Given the description of an element on the screen output the (x, y) to click on. 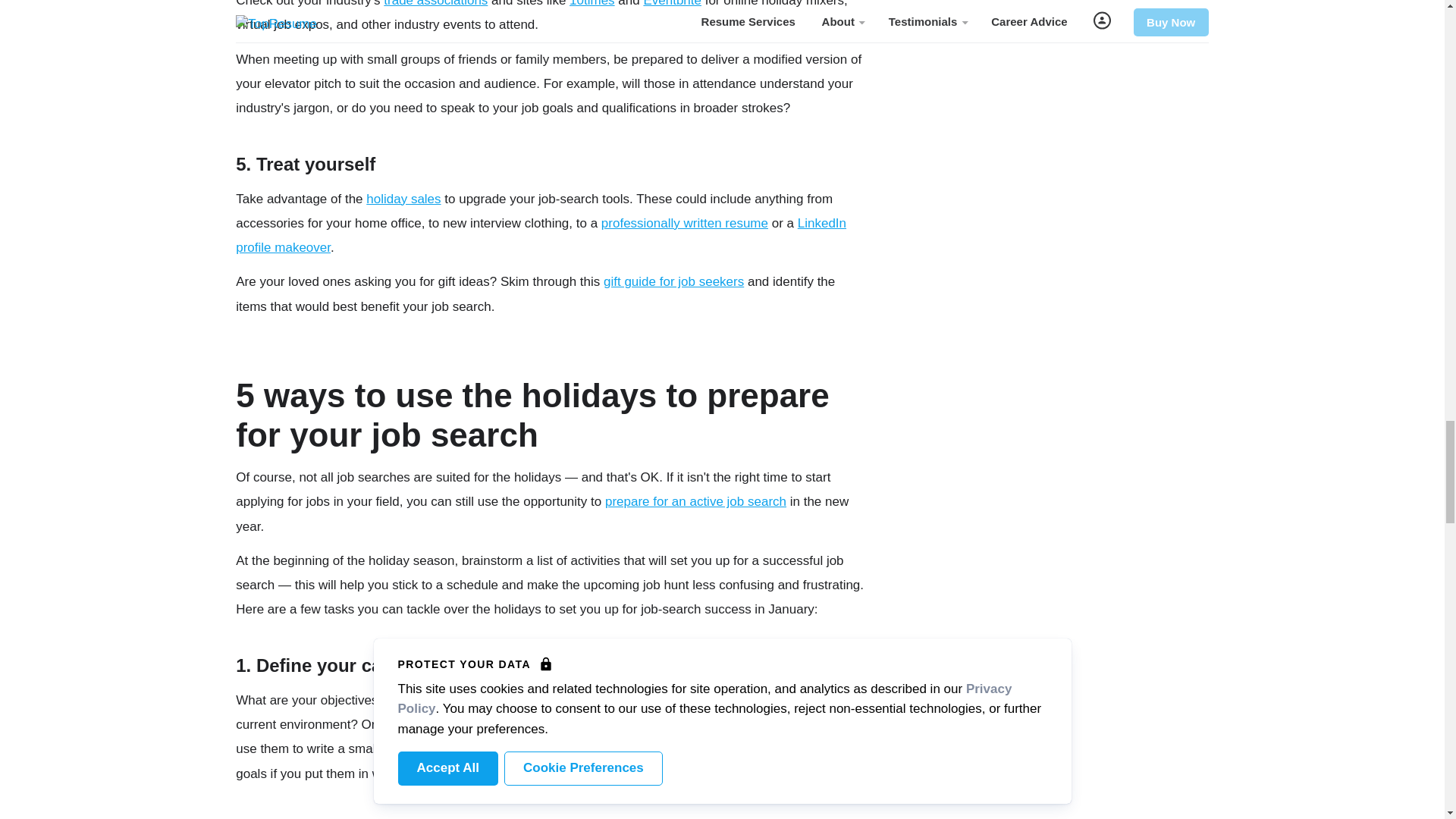
prepare for an active job search (695, 501)
holiday sales (403, 198)
LinkedIn profile makeover (540, 235)
gift guide for job seekers (674, 281)
professionally written resume (684, 223)
10times (591, 3)
trade associations (435, 3)
Eventbrite (672, 3)
